Given the description of an element on the screen output the (x, y) to click on. 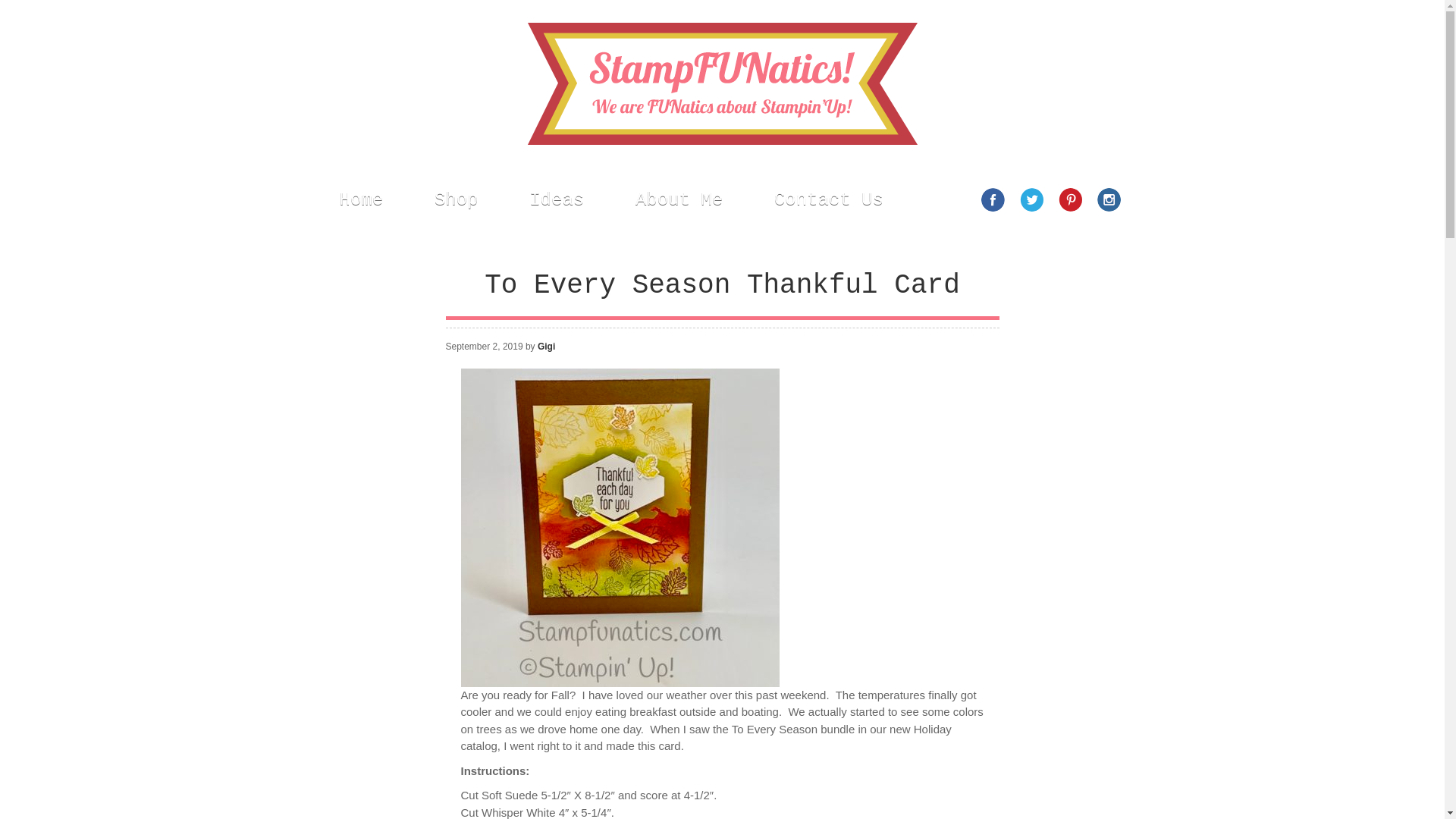
About Me (678, 199)
Ideas (556, 199)
Home (361, 199)
Gigi (545, 346)
Contact Us (828, 199)
Shop (456, 199)
